Given the description of an element on the screen output the (x, y) to click on. 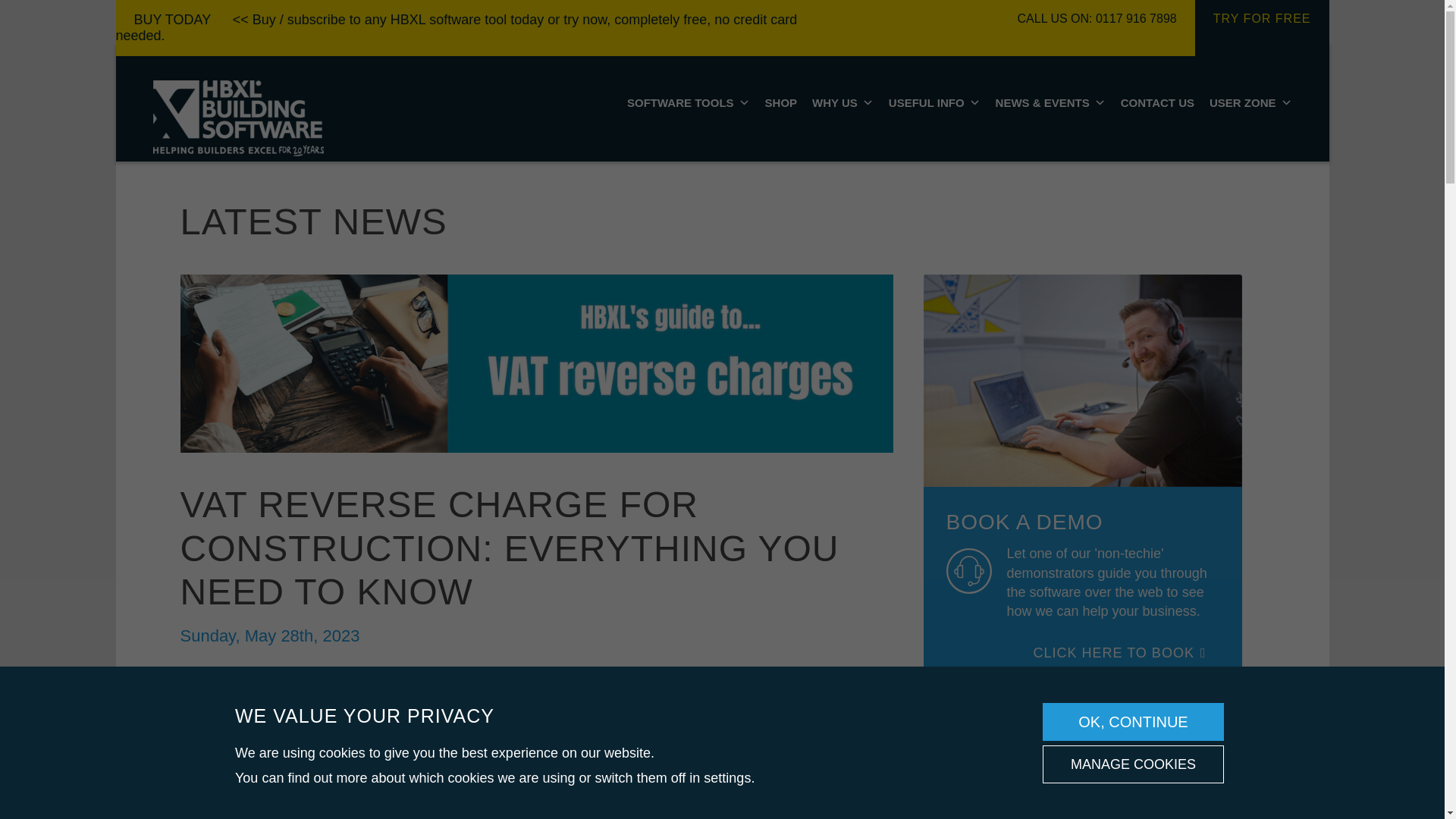
BUY TODAY (171, 19)
USER ZONE (1251, 102)
CONTACT US (1157, 102)
TRY FOR FREE (1262, 28)
